Given the description of an element on the screen output the (x, y) to click on. 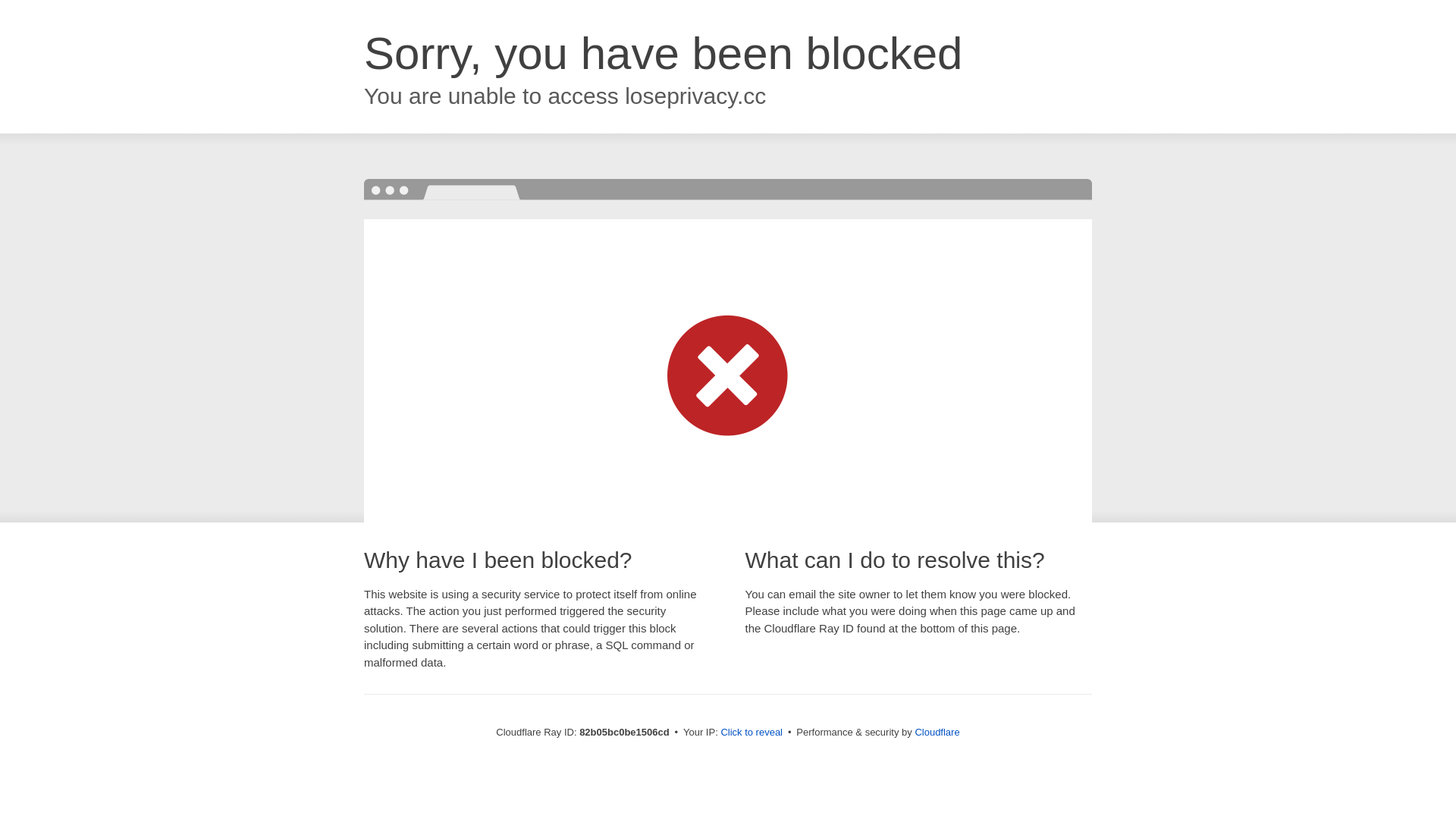
Cloudflare Element type: text (936, 731)
Click to reveal Element type: text (751, 732)
